Given the description of an element on the screen output the (x, y) to click on. 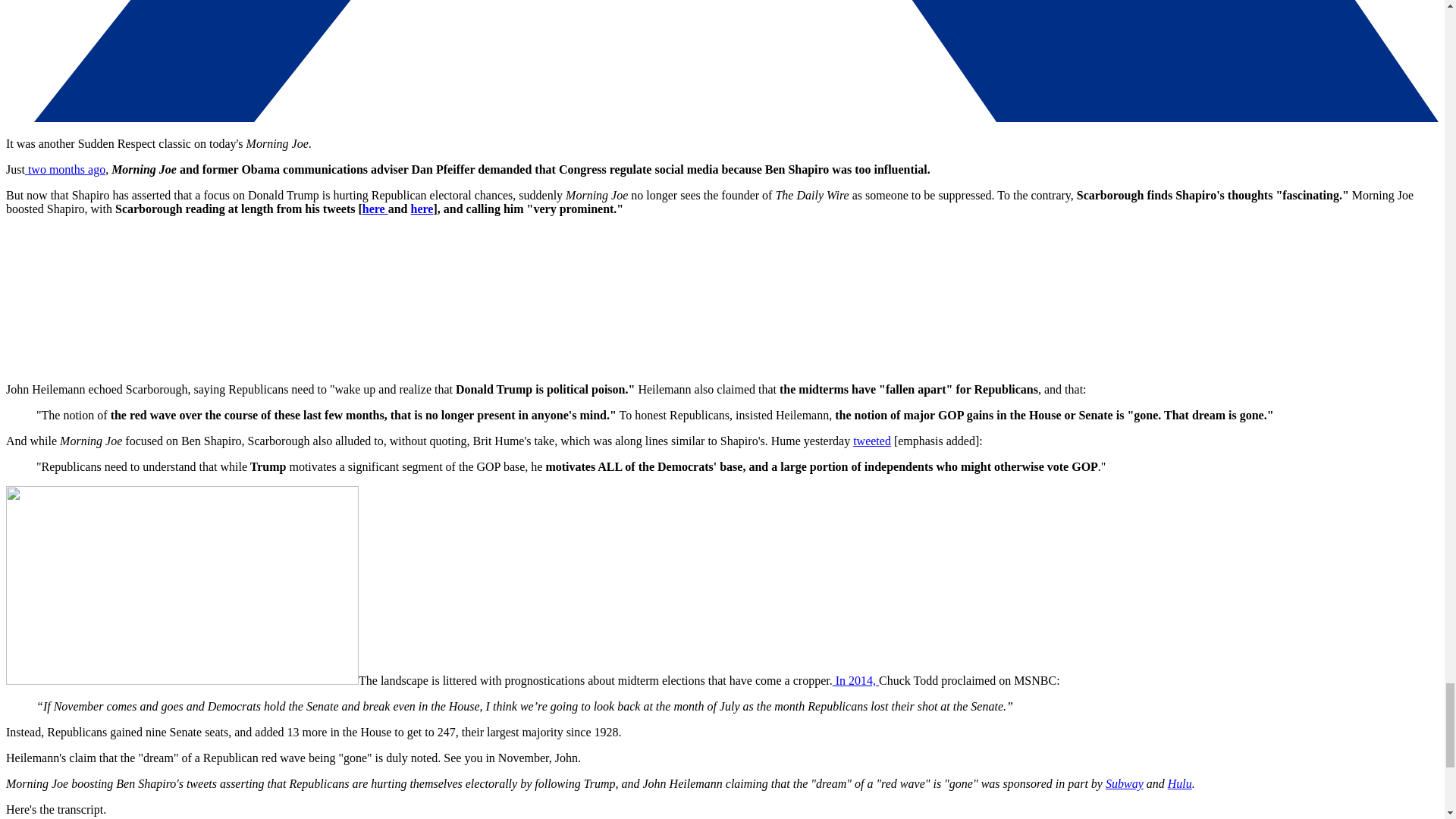
Ben Shapiro tweet (375, 208)
CFB Subway (1123, 783)
Ben Shapiro tweet II (421, 208)
Hume tweet on Trump (872, 440)
CFB Hulu (1179, 783)
